Given the description of an element on the screen output the (x, y) to click on. 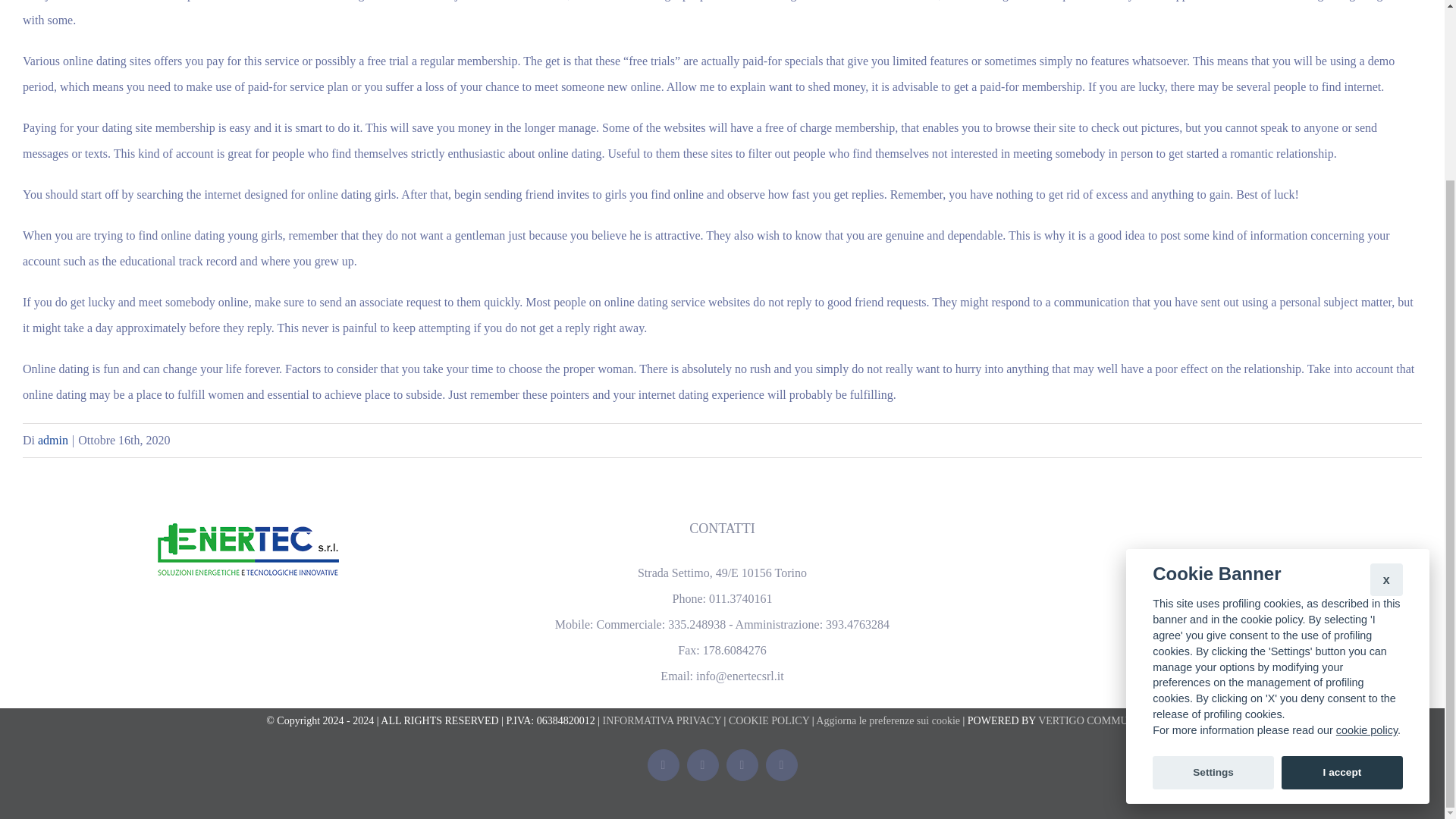
Facebook (663, 765)
x (1386, 359)
Pinterest (781, 765)
Commerciale: 335.248938 - Amministrazione: 393.4763284 (742, 624)
COOKIE POLICY (769, 720)
Articoli scritti da admin (52, 440)
admin (52, 440)
Instagram (742, 765)
Aggiorna le preferenze sui cookie (887, 720)
178.6084276 (735, 649)
